Given the description of an element on the screen output the (x, y) to click on. 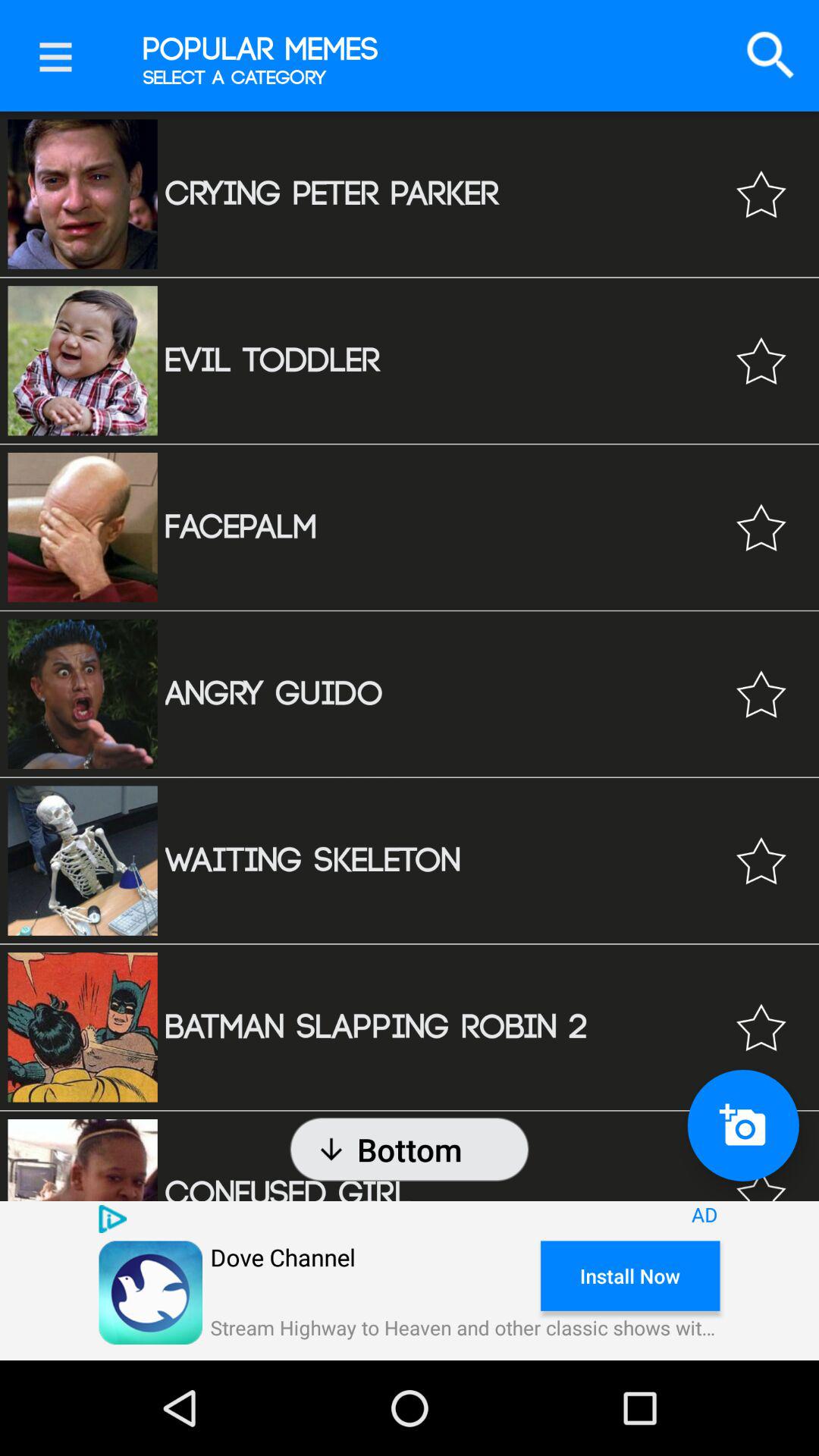
mark as favorite (761, 693)
